Given the description of an element on the screen output the (x, y) to click on. 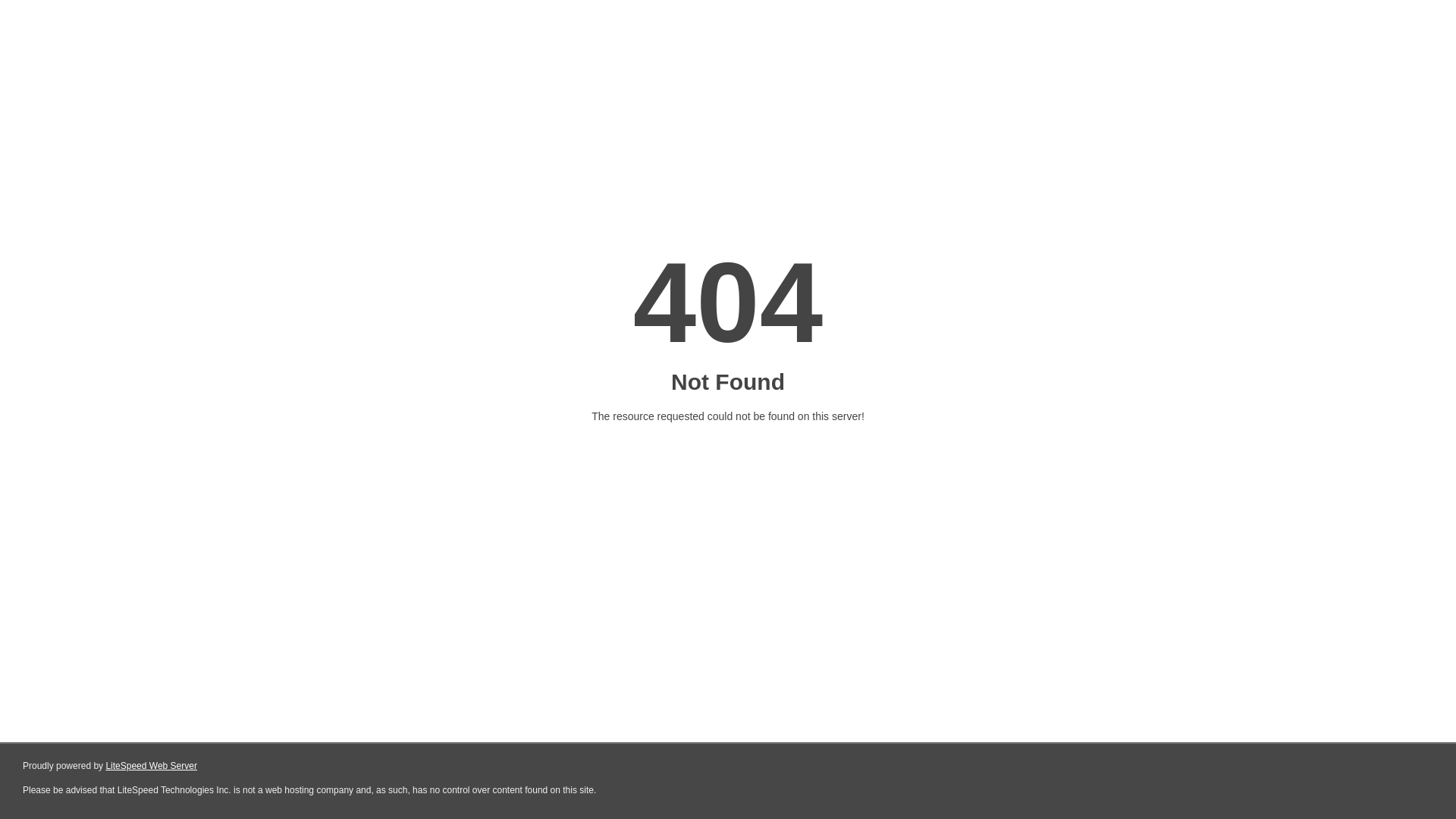
LiteSpeed Web Server Element type: text (151, 765)
